Given the description of an element on the screen output the (x, y) to click on. 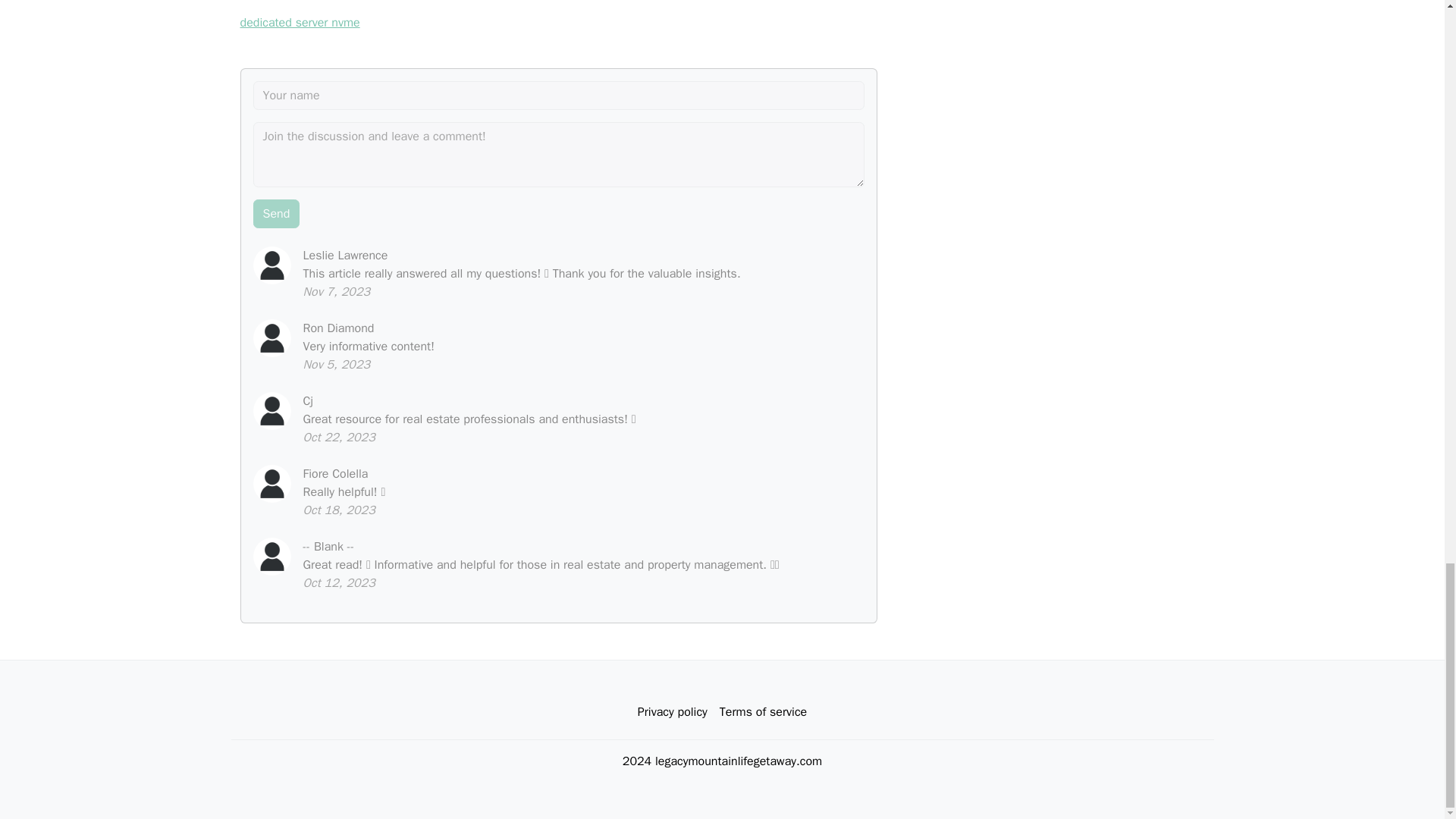
Terms of service (762, 711)
Send (276, 213)
Send (276, 213)
Privacy policy (672, 711)
dedicated server nvme (299, 22)
